Given the description of an element on the screen output the (x, y) to click on. 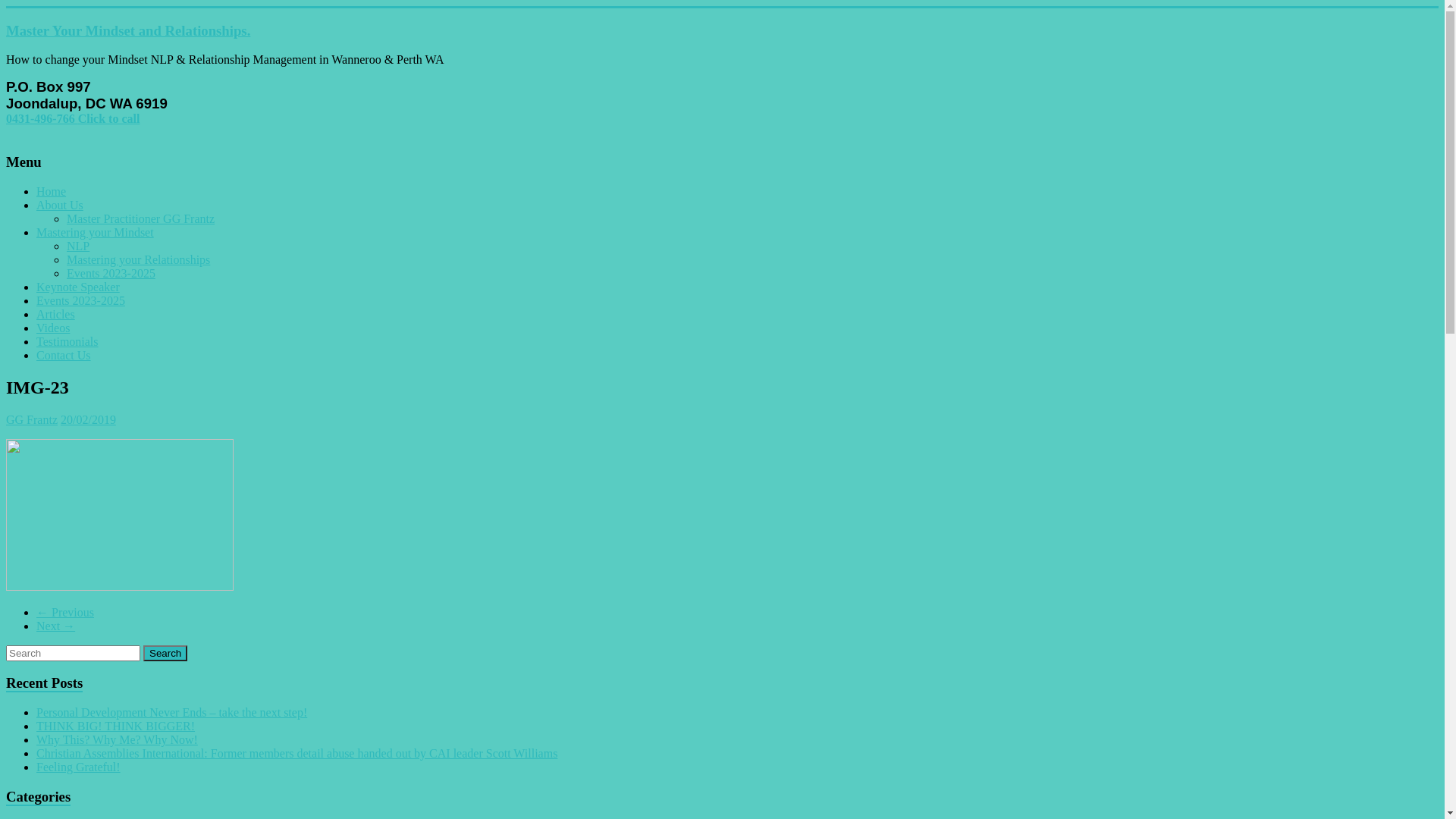
20/02/2019 Element type: text (88, 419)
Why This? Why Me? Why Now! Element type: text (116, 739)
Click to call Element type: text (109, 118)
0431-496-766 Element type: text (42, 118)
Master Your Mindset and Relationships. Element type: text (128, 30)
Contact Us Element type: text (63, 354)
NLP Element type: text (77, 245)
Keynote Speaker Element type: text (77, 286)
Events 2023-2025 Element type: text (110, 272)
Master Practitioner GG Frantz Element type: text (140, 218)
Home Element type: text (50, 191)
THINK BIG! THINK BIGGER! Element type: text (115, 725)
GG Frantz Element type: text (31, 419)
Videos Element type: text (52, 327)
Events 2023-2025 Element type: text (80, 300)
Testimonials Element type: text (67, 341)
Mastering your Mindset Element type: text (94, 231)
Articles Element type: text (55, 313)
Feeling Grateful! Element type: text (78, 766)
Search Element type: text (165, 653)
Mastering your Relationships Element type: text (138, 259)
About Us Element type: text (59, 204)
